Given the description of an element on the screen output the (x, y) to click on. 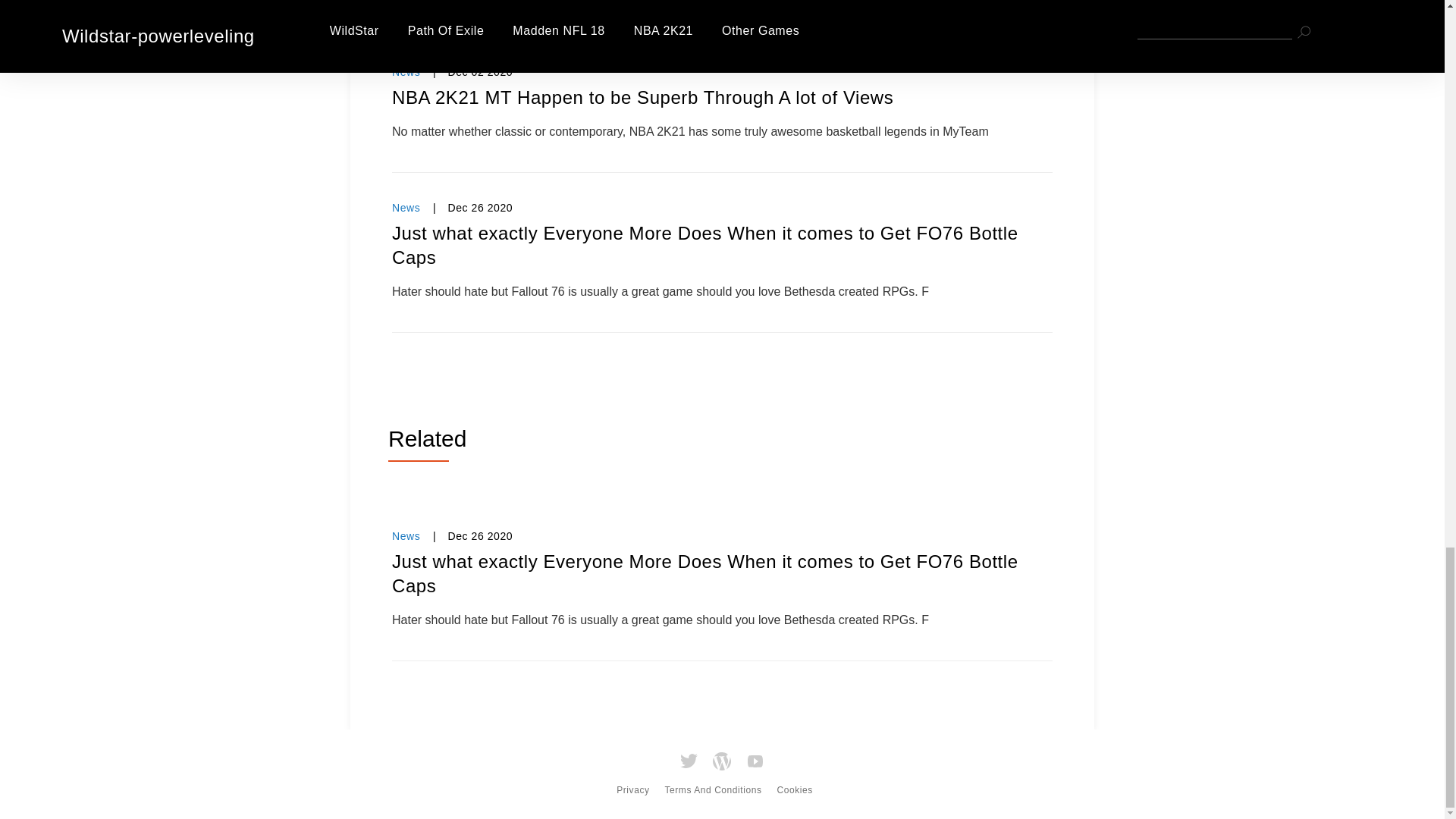
NBA 2K21 MT Happen to be Superb Through A lot of Views (721, 96)
Terms And Conditions (713, 784)
Cookies (794, 784)
Privacy (632, 784)
News (405, 70)
News (405, 535)
News (405, 207)
